Given the description of an element on the screen output the (x, y) to click on. 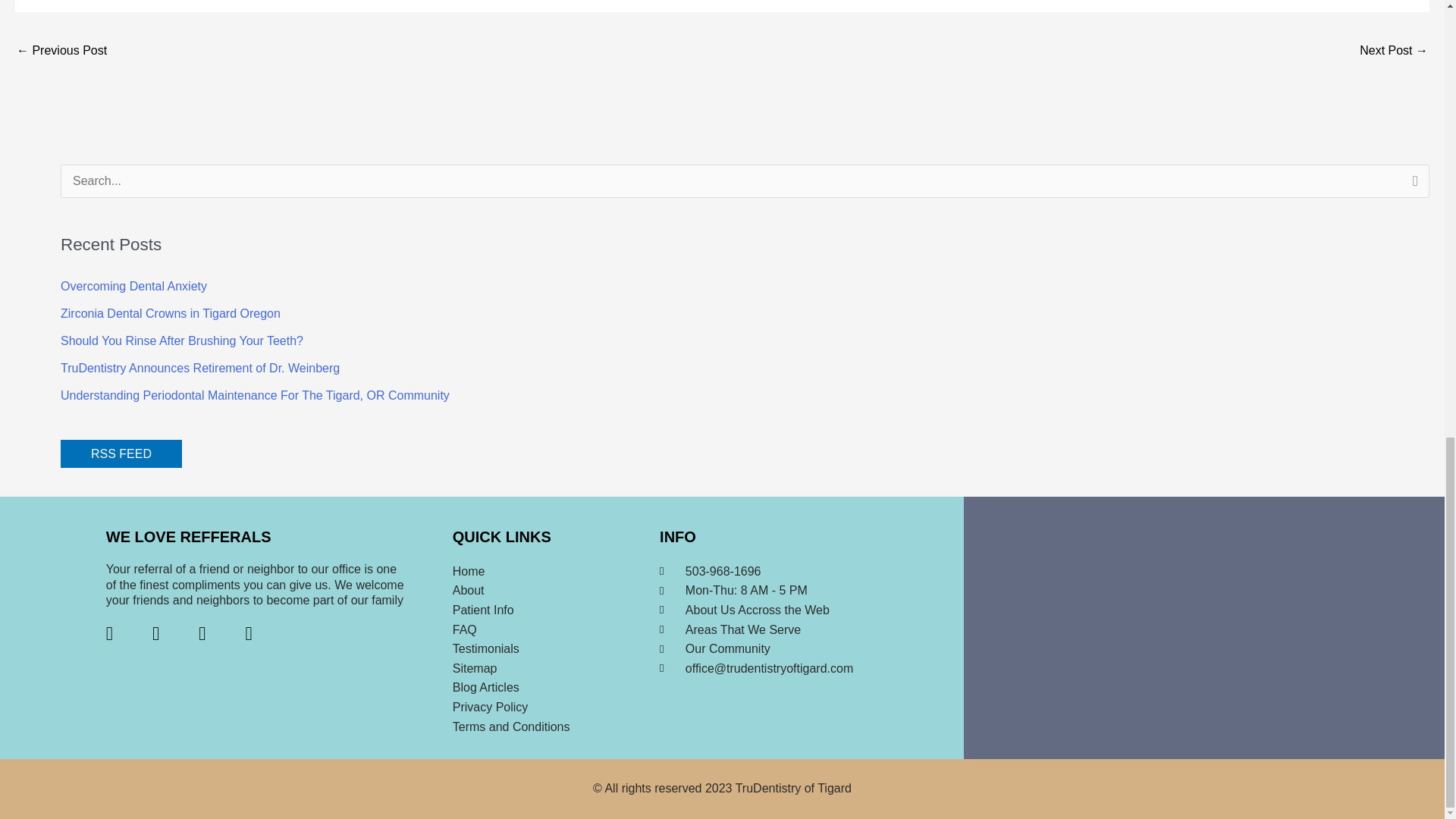
One Patient's Journey Through A Dental Transformation (1393, 51)
What To Do With a Cracked Tooth (61, 51)
9735 SW Shady Ln, Tigard, OR 97223, USA (1203, 628)
